Given the description of an element on the screen output the (x, y) to click on. 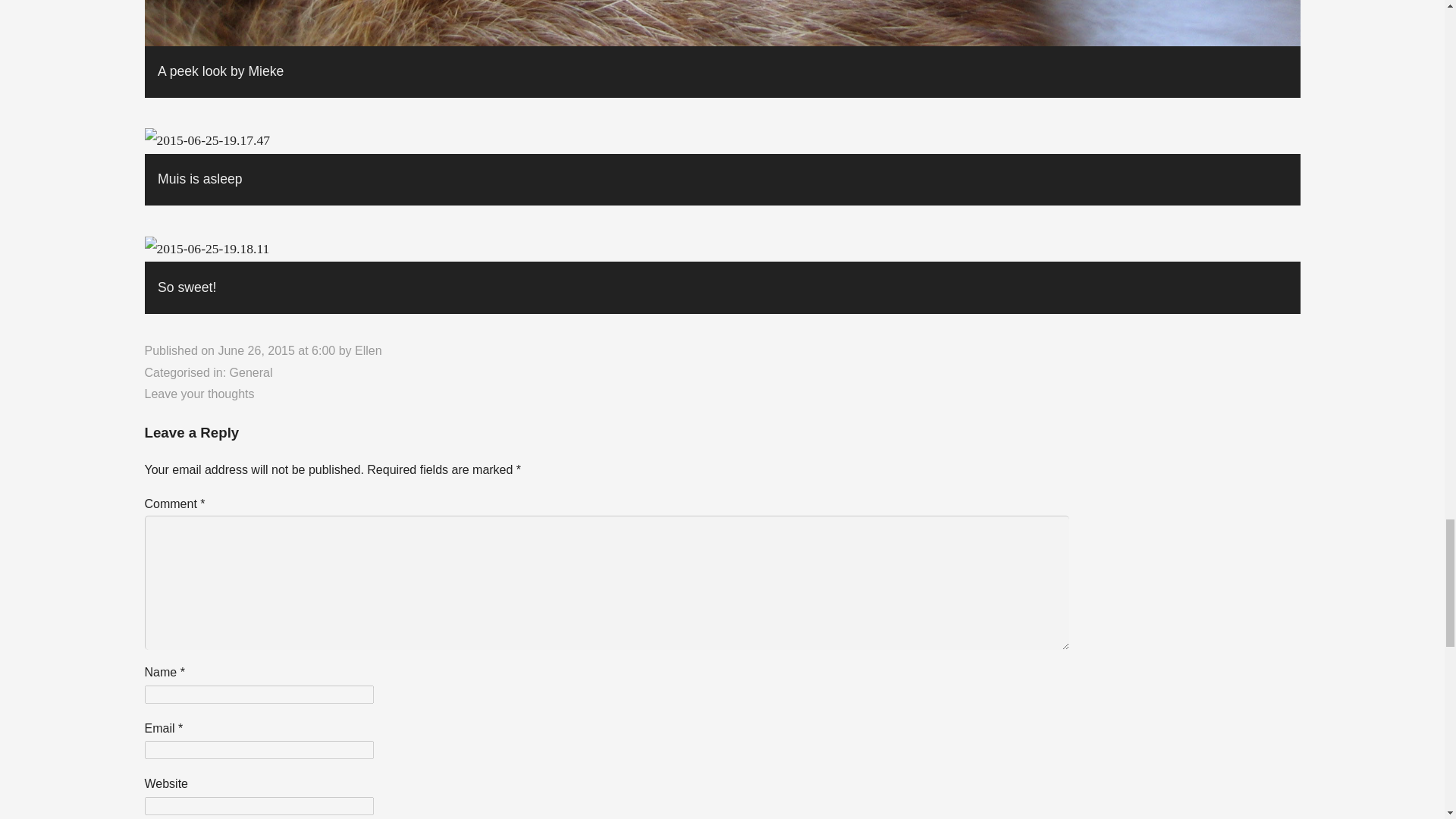
Ellen (368, 350)
Leave your thoughts (198, 393)
General (251, 372)
Posts by Ellen (368, 350)
